Given the description of an element on the screen output the (x, y) to click on. 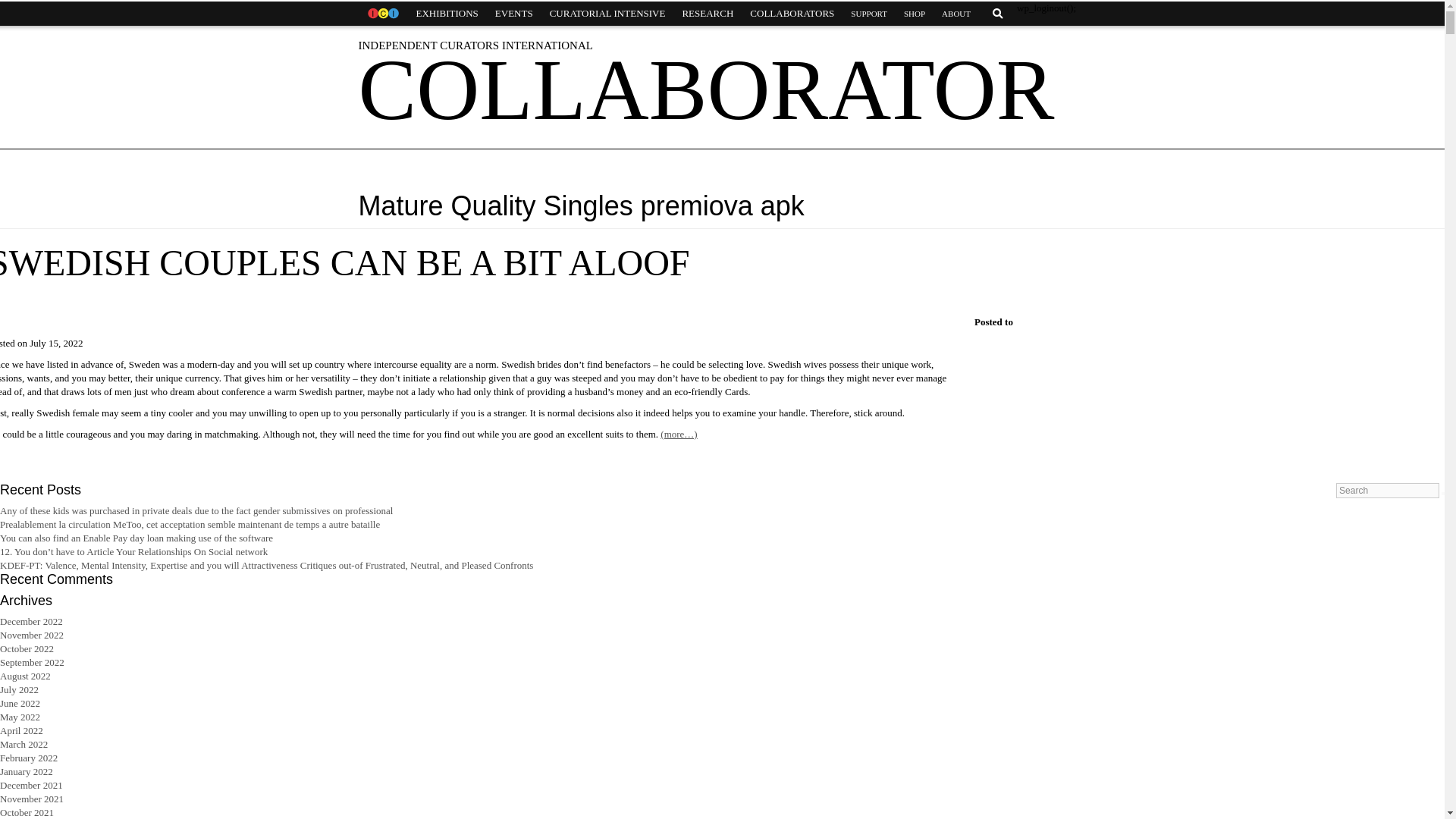
EXHIBITIONS (446, 13)
EVENTS (513, 13)
CURATORIAL INTENSIVE (607, 13)
RESEARCH (706, 13)
COLLABORATORS (792, 13)
HOME (382, 13)
